Given the description of an element on the screen output the (x, y) to click on. 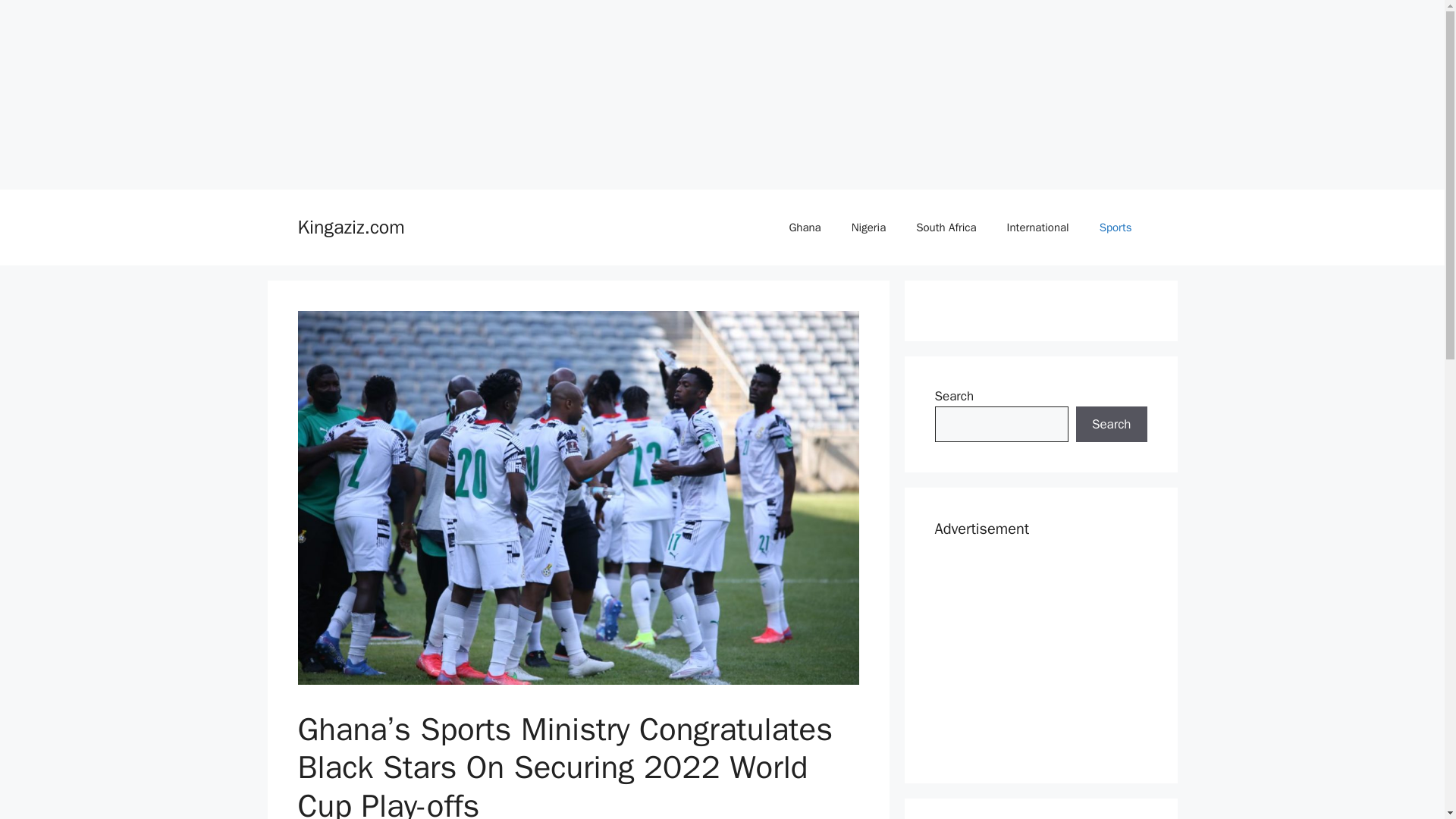
Kingaziz.com (350, 227)
Sports (1115, 227)
Ghana (804, 227)
International (1037, 227)
South Africa (946, 227)
Nigeria (868, 227)
Search (1111, 424)
